Given the description of an element on the screen output the (x, y) to click on. 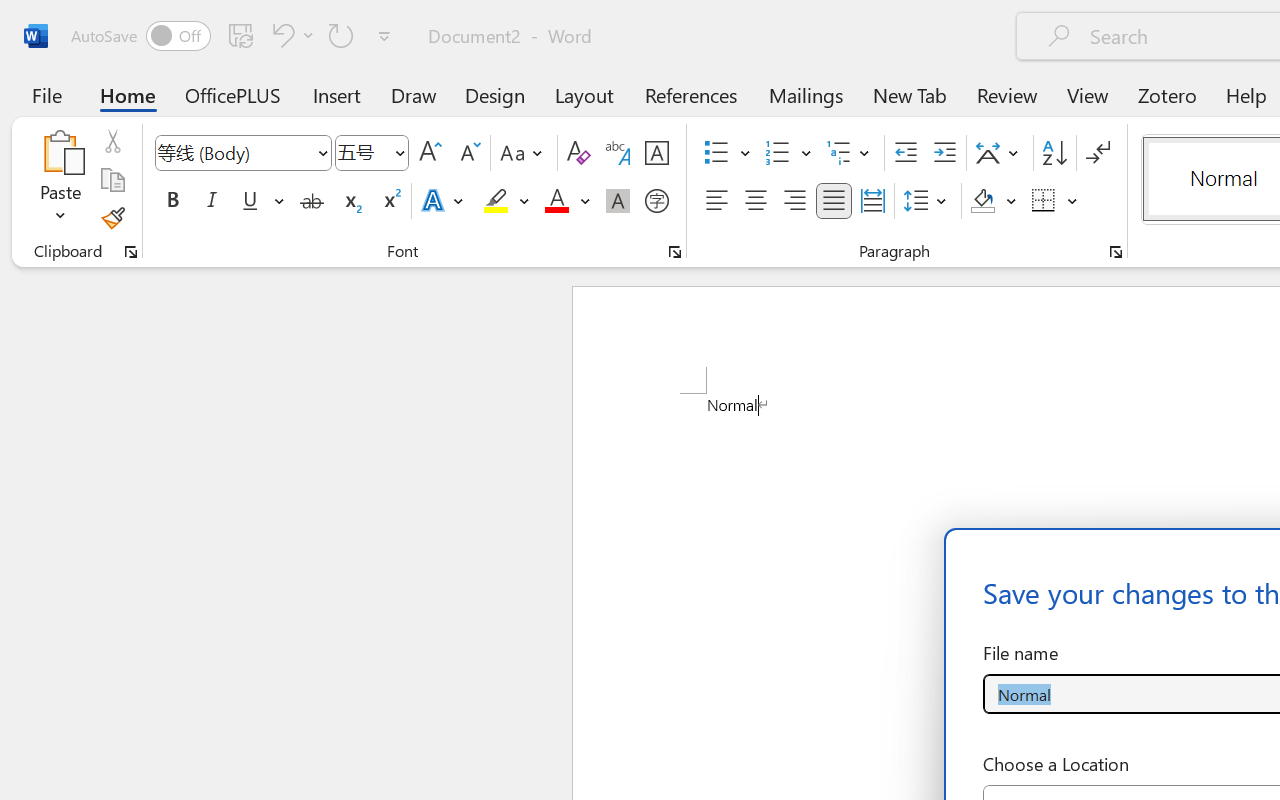
Open (399, 152)
Borders (1044, 201)
Character Shading (618, 201)
New Tab (909, 94)
AutoSave (140, 35)
Bullets (716, 153)
Multilevel List (850, 153)
Shading (993, 201)
Font (242, 153)
Format Painter (112, 218)
Font... (675, 252)
Grow Font (430, 153)
Insert (337, 94)
